Given the description of an element on the screen output the (x, y) to click on. 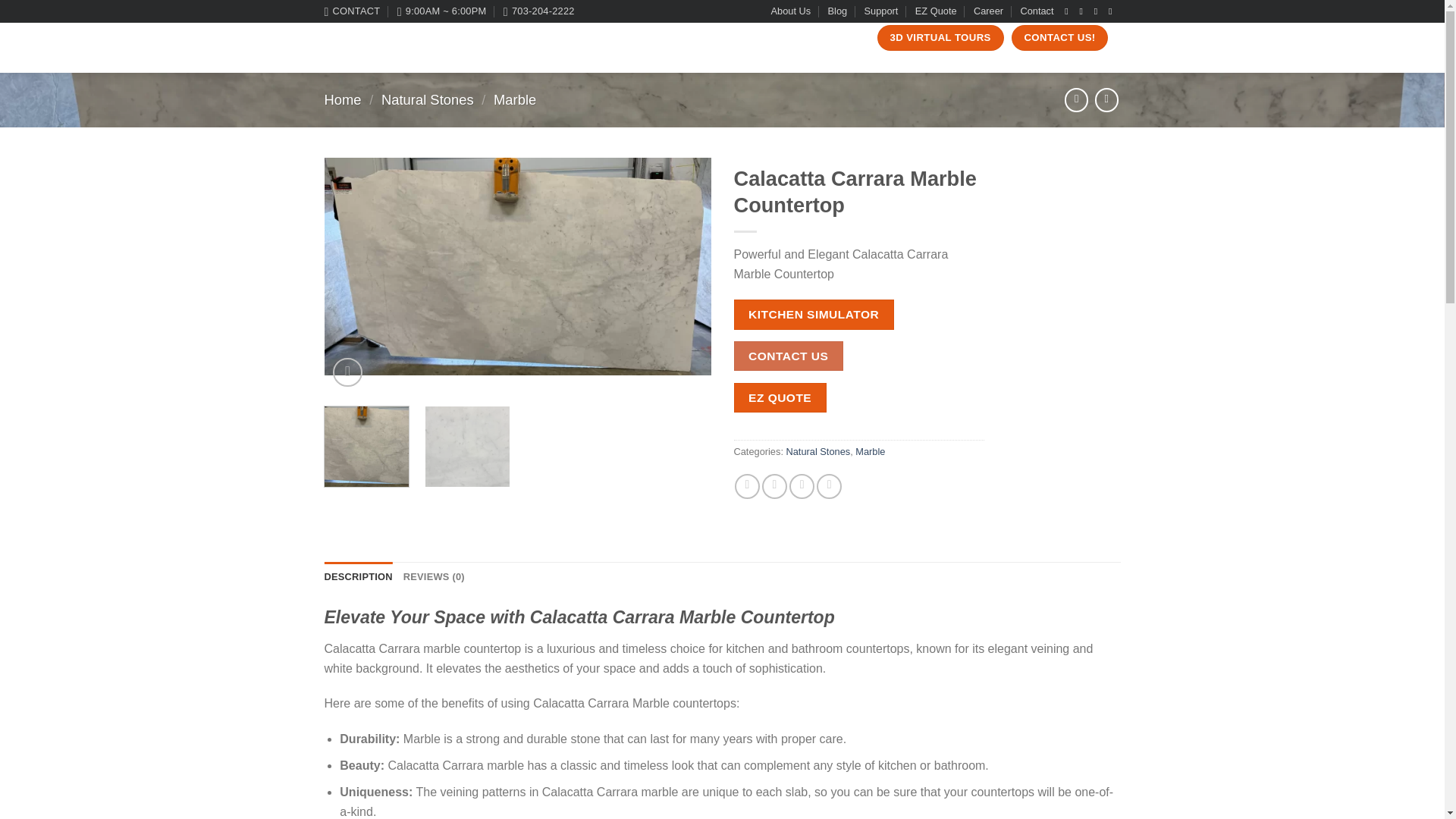
ABOUT US (454, 37)
Blog (837, 11)
PRODUCTS (518, 37)
Calacatta Carrara Marble Countertop 5 (467, 448)
703-204-2222 (539, 11)
Calacatta Carrara Marble Countertop 3 (517, 266)
About Us (790, 11)
Career (988, 11)
Contact (1036, 11)
Support (881, 11)
EZ Quote (935, 11)
Zoom (347, 372)
703-204-2222 (539, 11)
CONTACT (352, 11)
